Given the description of an element on the screen output the (x, y) to click on. 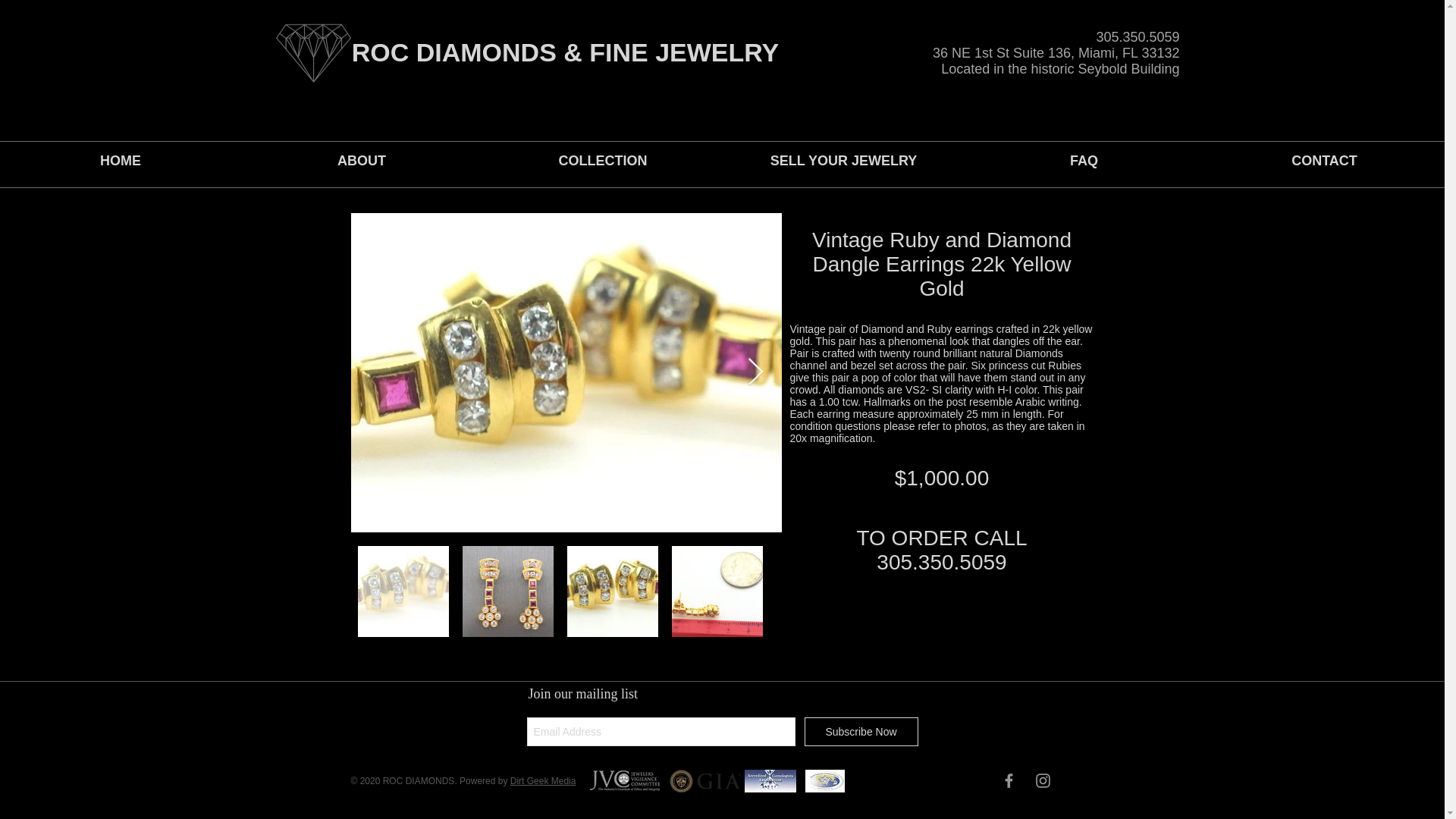
Dirt Geek Media (543, 780)
FAQ (1083, 160)
SELL YOUR JEWELRY (843, 160)
COLLECTION (602, 160)
Subscribe Now (860, 731)
HOME (120, 160)
ABOUT (361, 160)
ROC DIAMONDS  (458, 51)
